Given the description of an element on the screen output the (x, y) to click on. 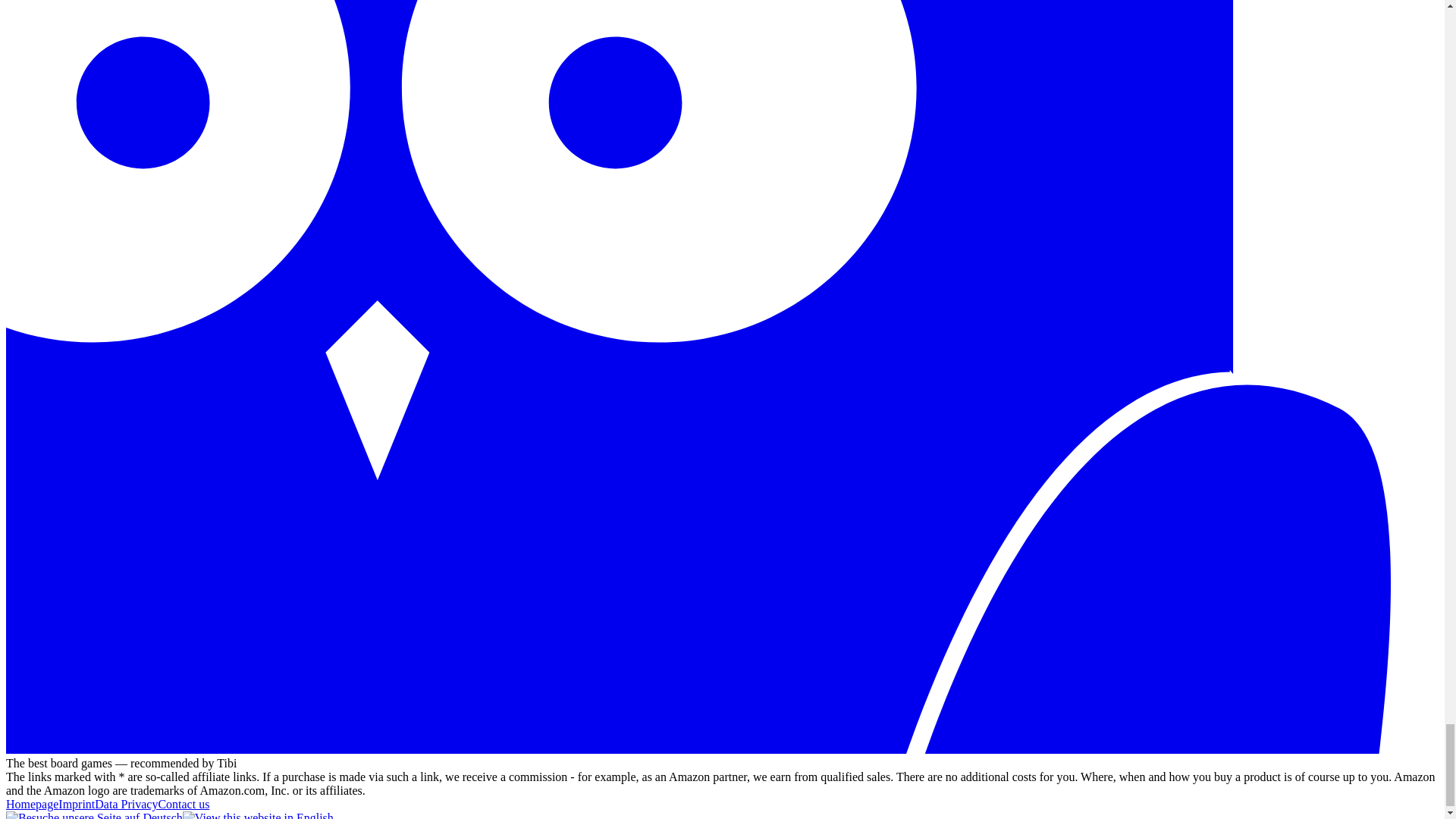
Imprint (76, 803)
Contact us (183, 803)
Data Privacy (125, 803)
Homepage (31, 803)
